Given the description of an element on the screen output the (x, y) to click on. 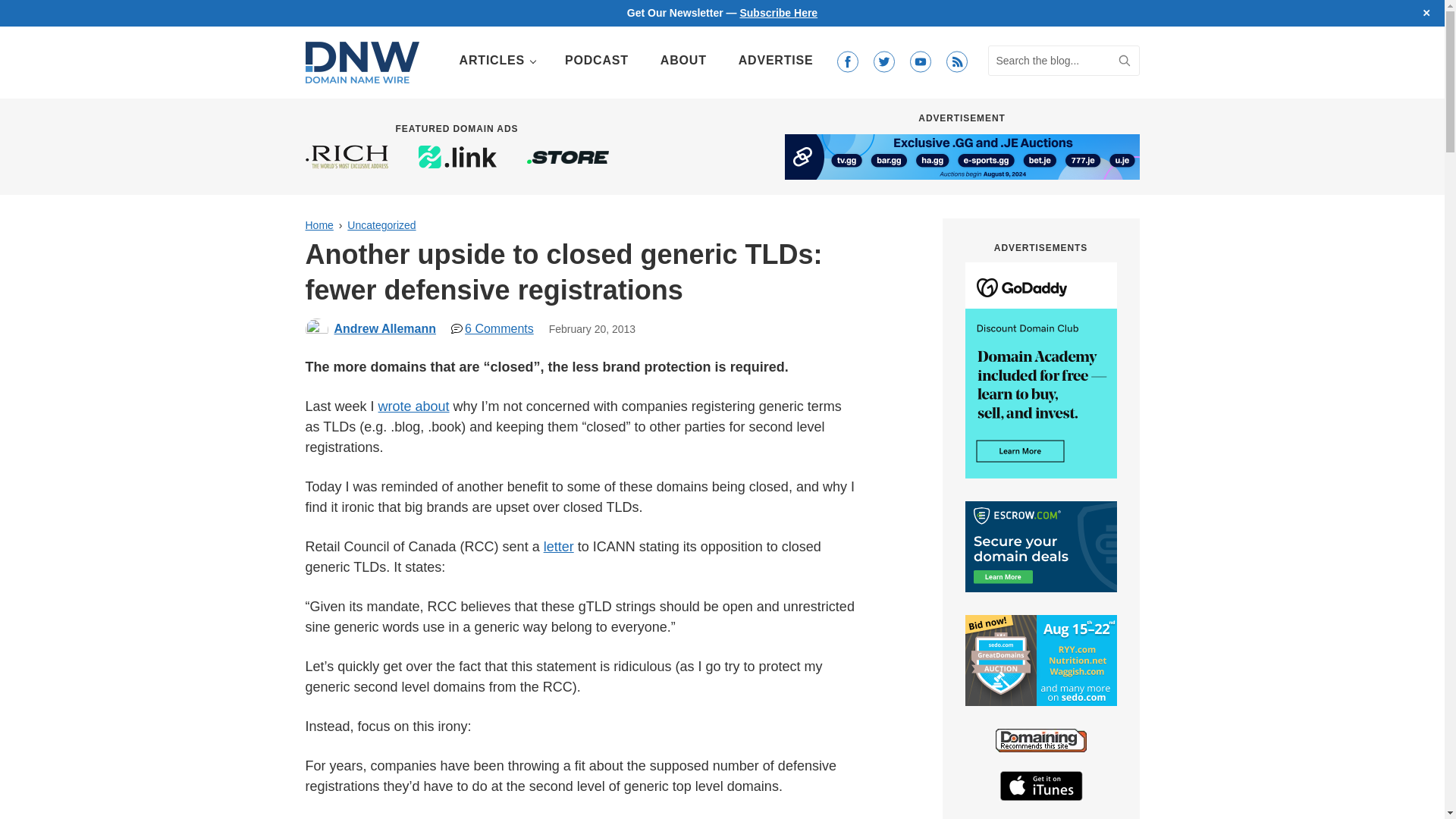
wrote about (413, 406)
Submit search (1123, 60)
ABOUT (683, 60)
ARTICLES (495, 60)
Subscribe Here (777, 12)
6 Comments (492, 328)
Uncategorized (380, 224)
Home (318, 224)
Submit search (1123, 60)
Andrew Allemann (384, 328)
